Given the description of an element on the screen output the (x, y) to click on. 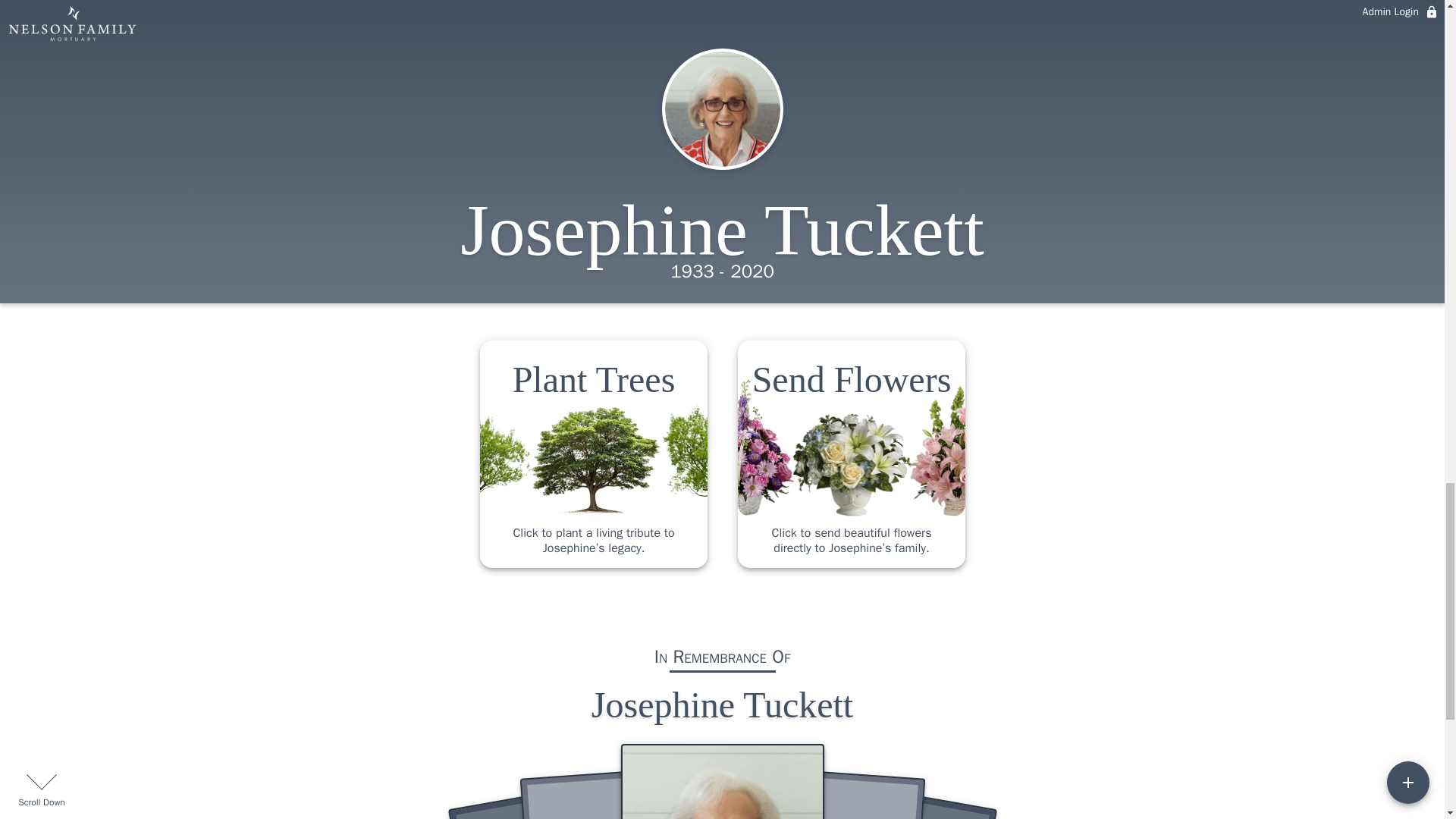
Arbor Day Foundation (587, 42)
PLANT A TREE (722, 6)
Planted by Hand (676, 42)
Verified Certificate (766, 42)
Public or Anonymous (855, 42)
